Given the description of an element on the screen output the (x, y) to click on. 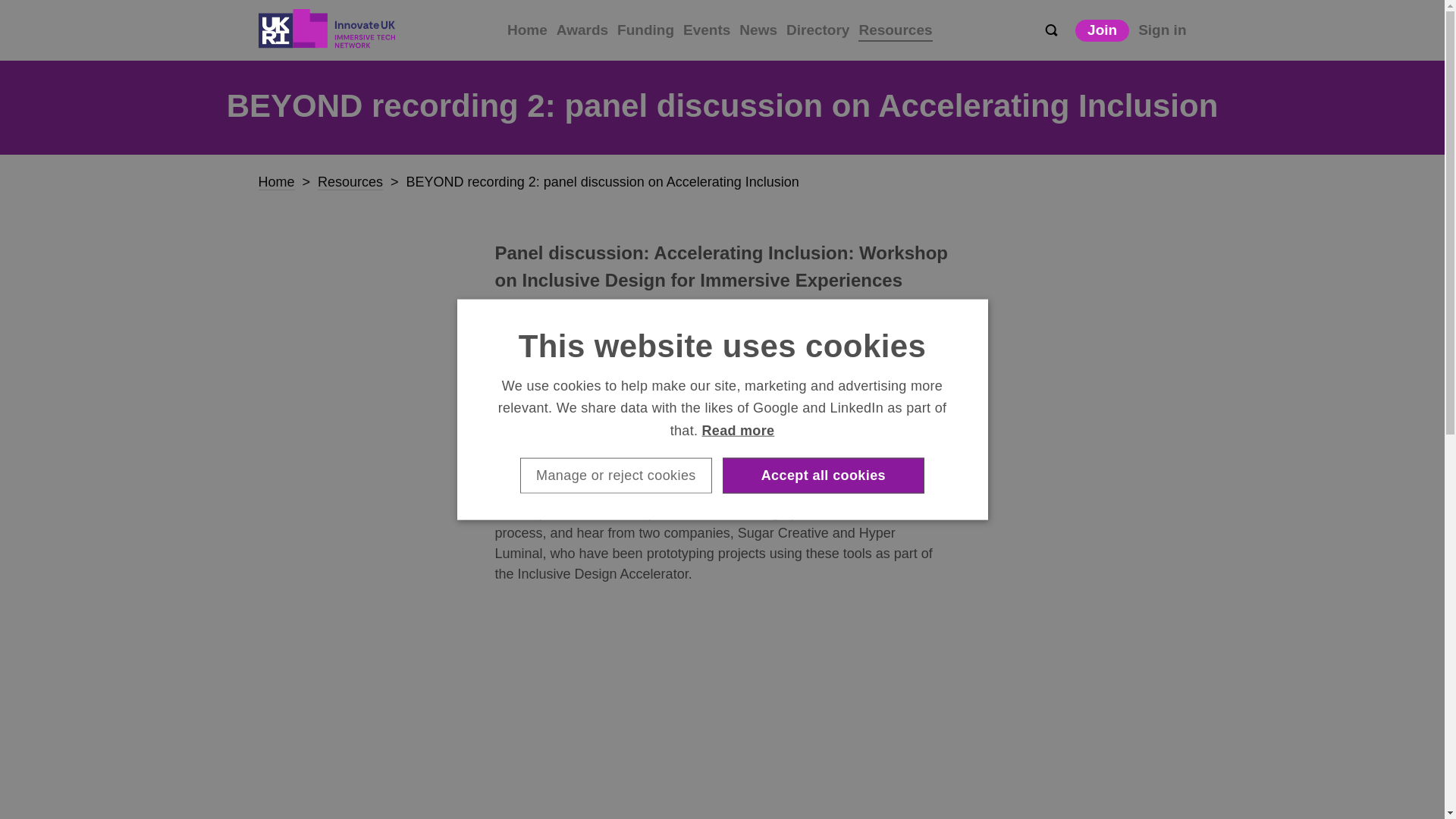
Home (526, 31)
Join (1102, 30)
Events (706, 31)
Funding (645, 31)
Directory (817, 31)
News (758, 31)
Resources (349, 182)
Awards (582, 31)
Home (275, 182)
Sign in (1162, 31)
